Given the description of an element on the screen output the (x, y) to click on. 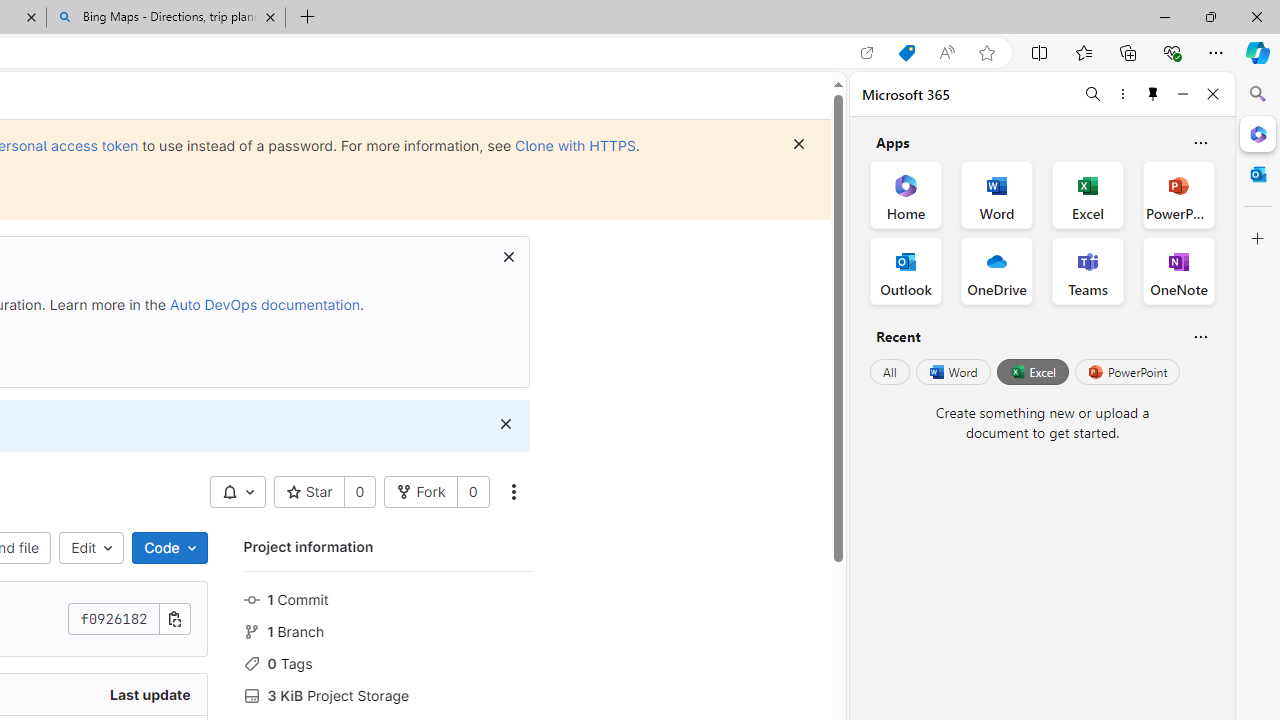
1 Commit (387, 597)
Fork (421, 491)
0 (472, 491)
OneNote Office App (1178, 270)
1 Branch (387, 629)
Auto DevOps documentation (264, 304)
Is this helpful? (1200, 336)
More actions (512, 491)
